Given the description of an element on the screen output the (x, y) to click on. 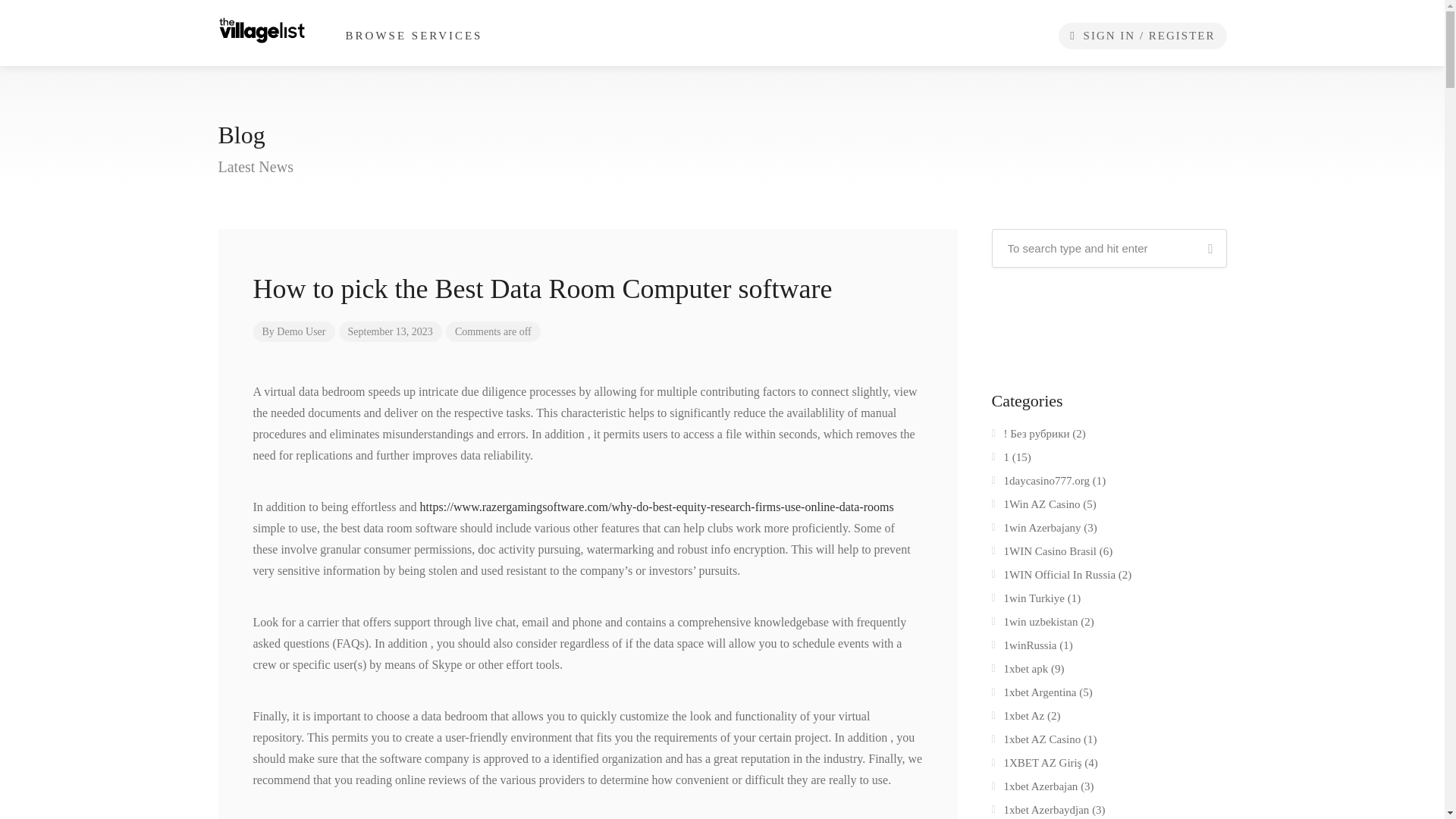
1xbet Az (1018, 718)
1WIN Official In Russia (1053, 577)
1xbet apk (1019, 671)
1win Turkiye (1027, 600)
Search Black Owned Service Businesses (261, 29)
1win Azerbajany (1036, 530)
1winRussia (1024, 648)
1win uzbekistan (1034, 624)
1xbet AZ Casino (1036, 742)
1xbet Argentina (1034, 694)
